Given the description of an element on the screen output the (x, y) to click on. 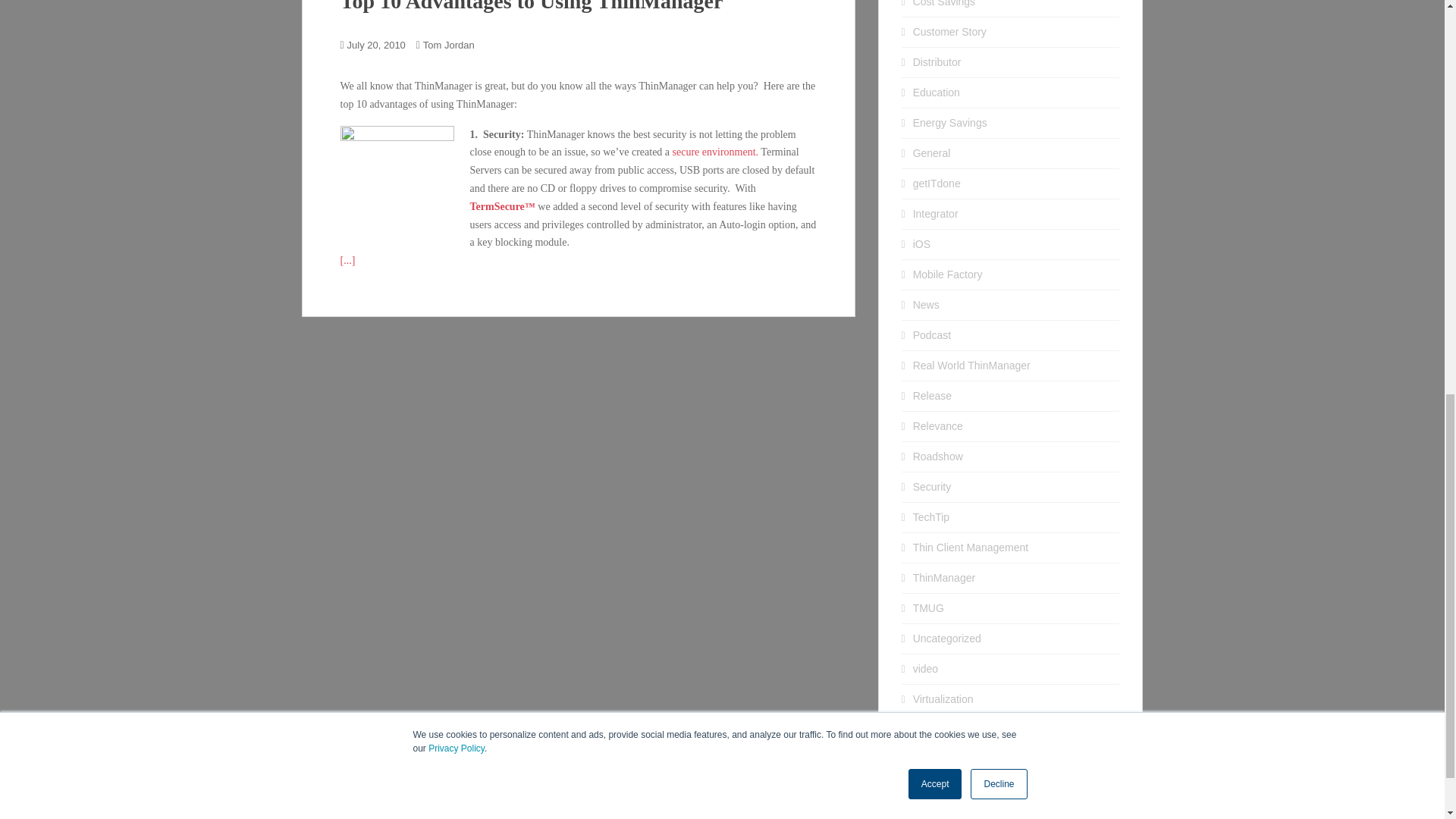
Customer Story (949, 31)
Tom Jordan (448, 44)
Cost Savings (943, 3)
Top 10 Advantages to Using ThinManager (530, 6)
secure environment. (715, 152)
General (931, 152)
Distributor (936, 61)
Education (935, 92)
Energy Savings (949, 122)
July 20, 2010 (376, 44)
